Given the description of an element on the screen output the (x, y) to click on. 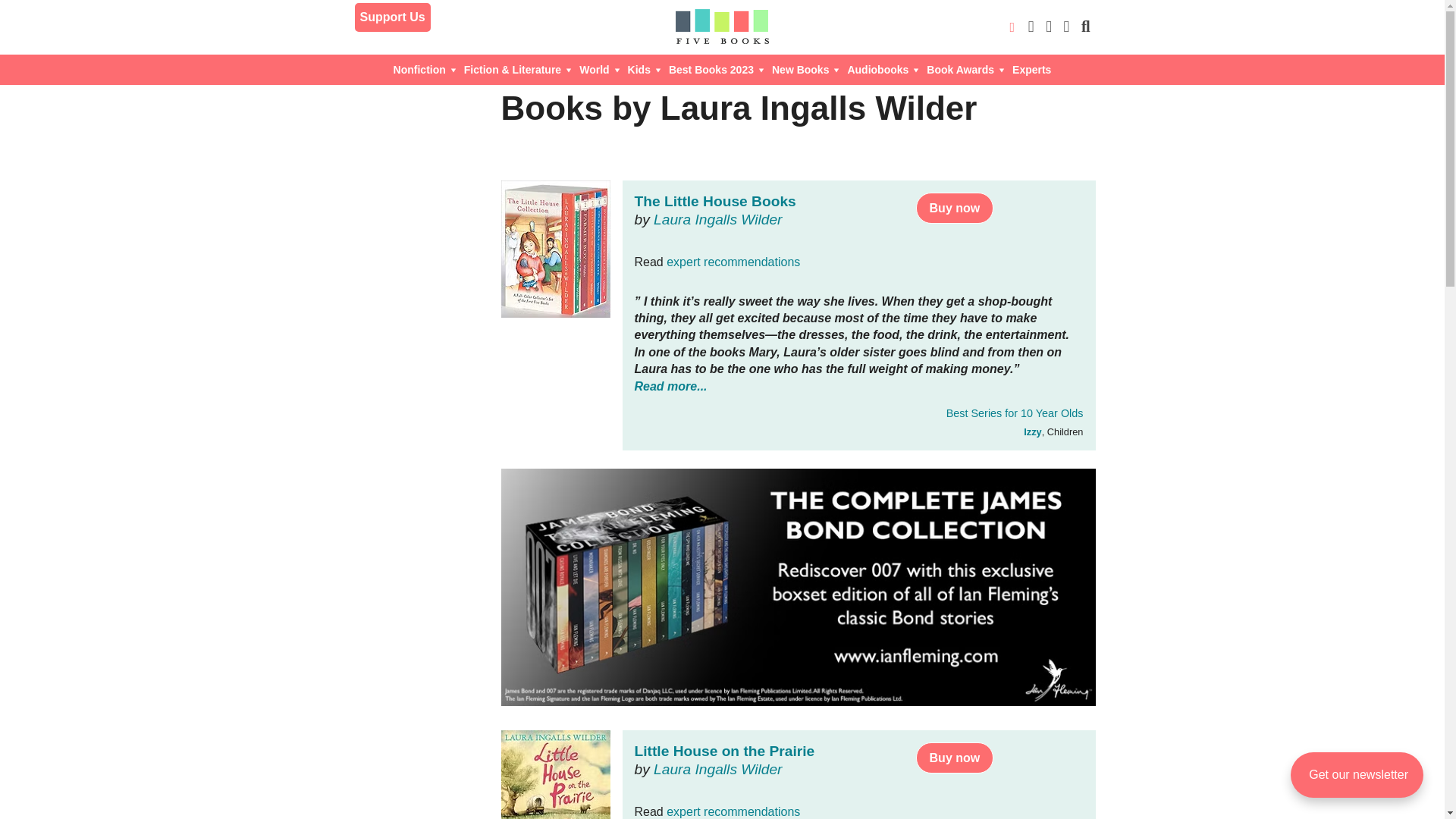
Little House on the Prairie by Laura Ingalls Wilder (555, 774)
Support Us (392, 17)
Nonfiction (425, 69)
